Given the description of an element on the screen output the (x, y) to click on. 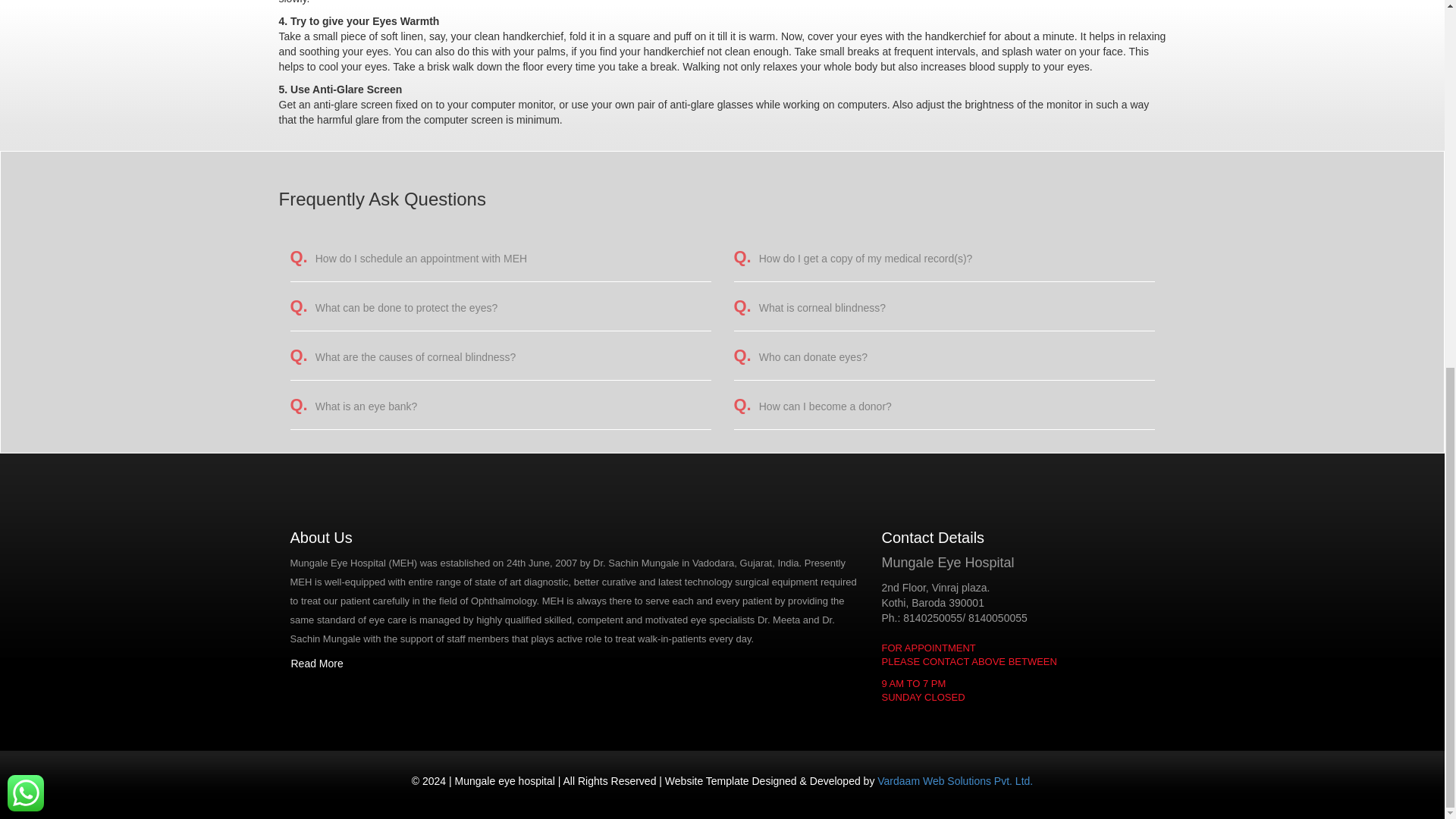
Q.What is corneal blindness? (809, 307)
Q.What can be done to protect the eyes? (393, 307)
Q.How do I schedule an appointment with MEH (408, 258)
Q.How can I become a donor? (812, 406)
Vardaam Web Solutions Pvt. Ltd. (954, 780)
Read More (316, 664)
Q.What are the causes of corneal blindness? (402, 357)
Q.Who can donate eyes? (800, 357)
Q.What is an eye bank? (352, 406)
